Given the description of an element on the screen output the (x, y) to click on. 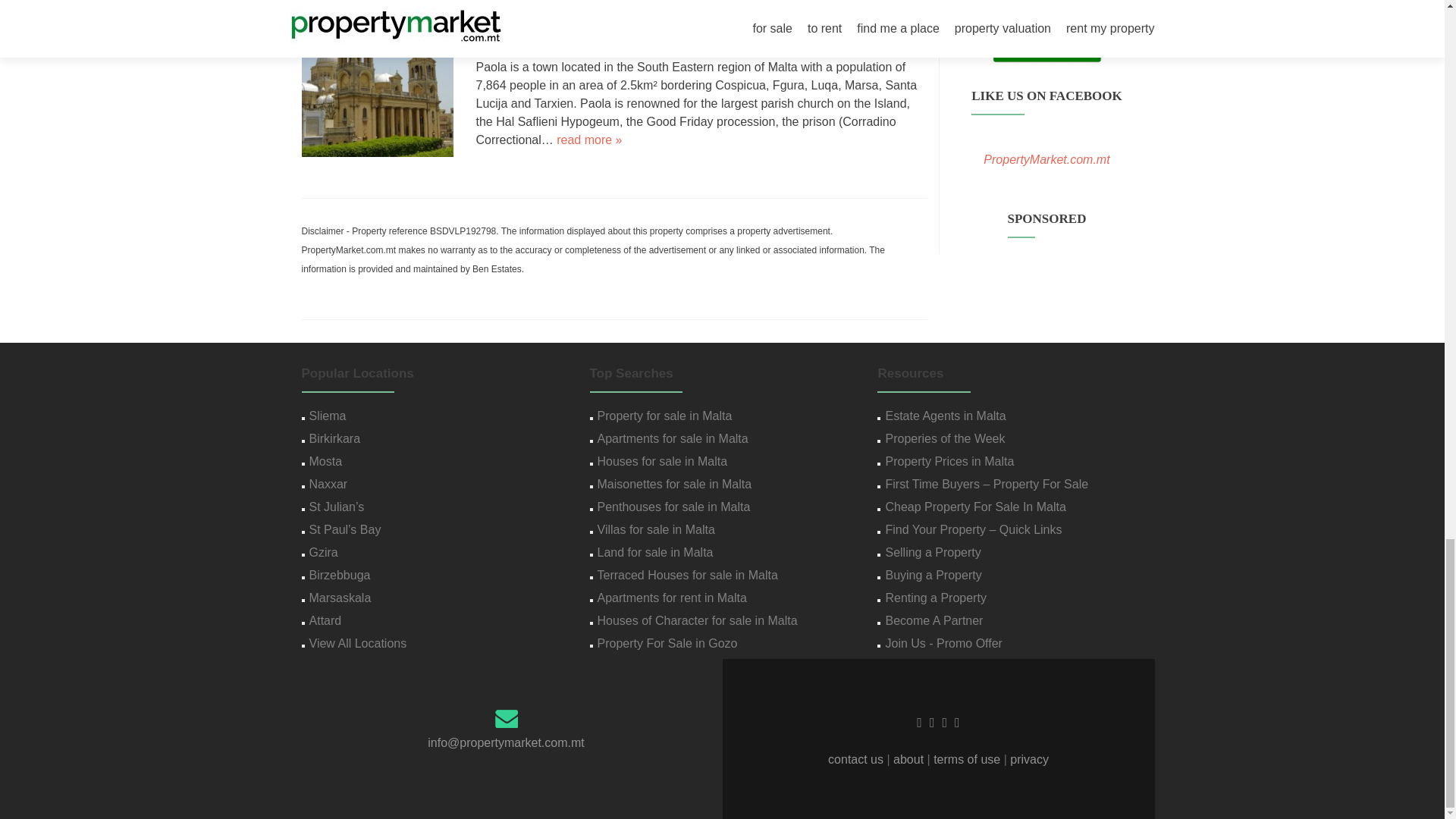
Sliema (327, 415)
View Malta's Property Price Index (1046, 2)
Naxxar (327, 483)
PropertyMarket.com.mt (1046, 159)
Birkirkara (334, 438)
Mosta (325, 461)
